Given the description of an element on the screen output the (x, y) to click on. 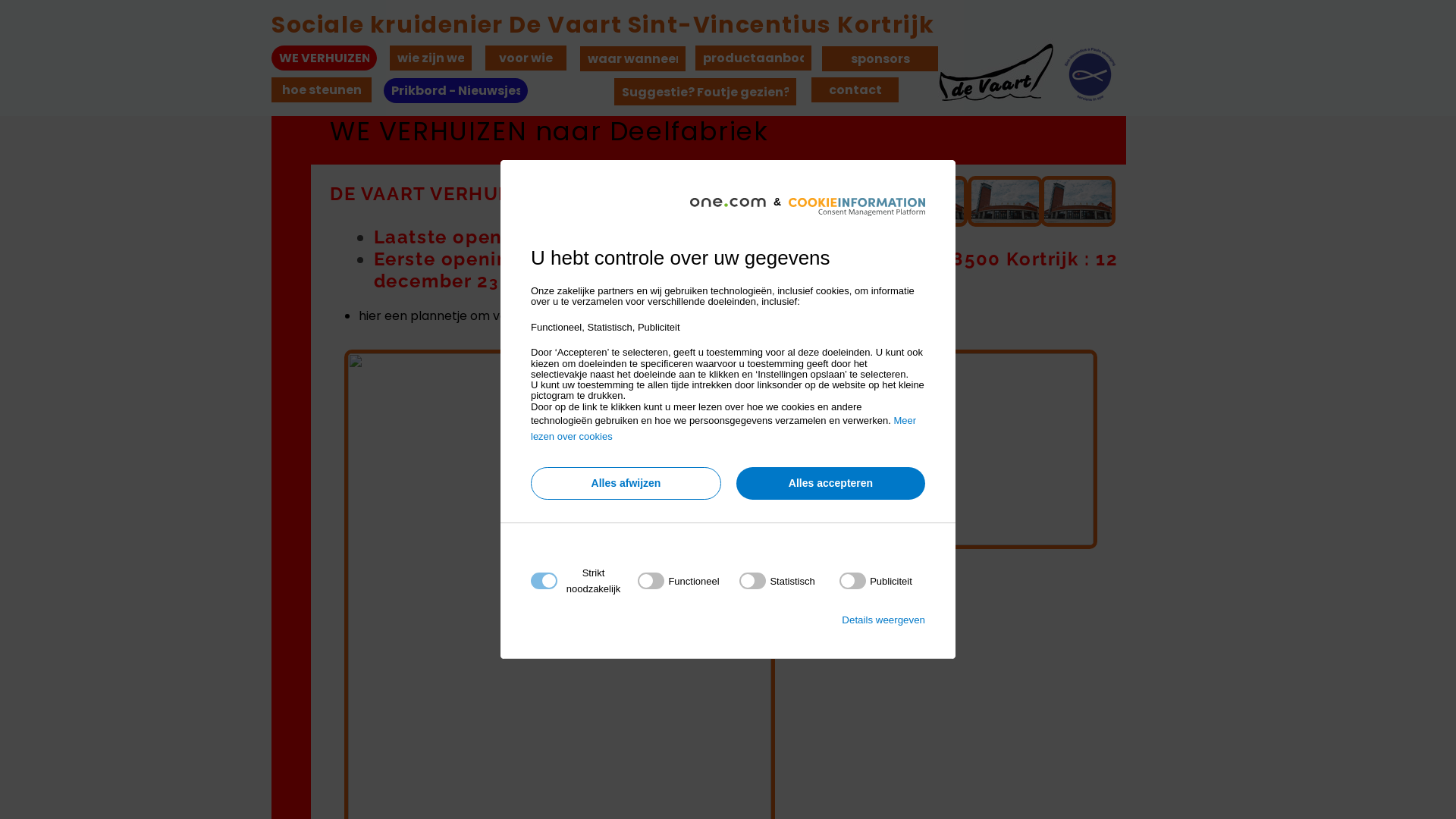
Suggestie? Foutje gezien? Element type: text (705, 91)
Functioneel Element type: text (723, 763)
Meer lezen over cookies Element type: text (723, 428)
sponsors Element type: text (880, 58)
hoe steunen Element type: text (321, 89)
contact Element type: text (854, 89)
on Element type: text (677, 580)
waar wanneer Element type: text (632, 58)
on Element type: text (776, 580)
wie zijn we Element type: text (430, 57)
productaanbod Element type: text (753, 57)
Details weergeven Element type: text (883, 619)
voor wie Element type: text (525, 57)
Strikt noodzakelijk Element type: text (723, 673)
Prikbord - Nieuwsjes Element type: text (455, 90)
Alles accepteren Element type: text (830, 483)
on Element type: text (875, 580)
Alles afwijzen Element type: text (625, 483)
WE VERHUIZEN Element type: text (323, 57)
